Given the description of an element on the screen output the (x, y) to click on. 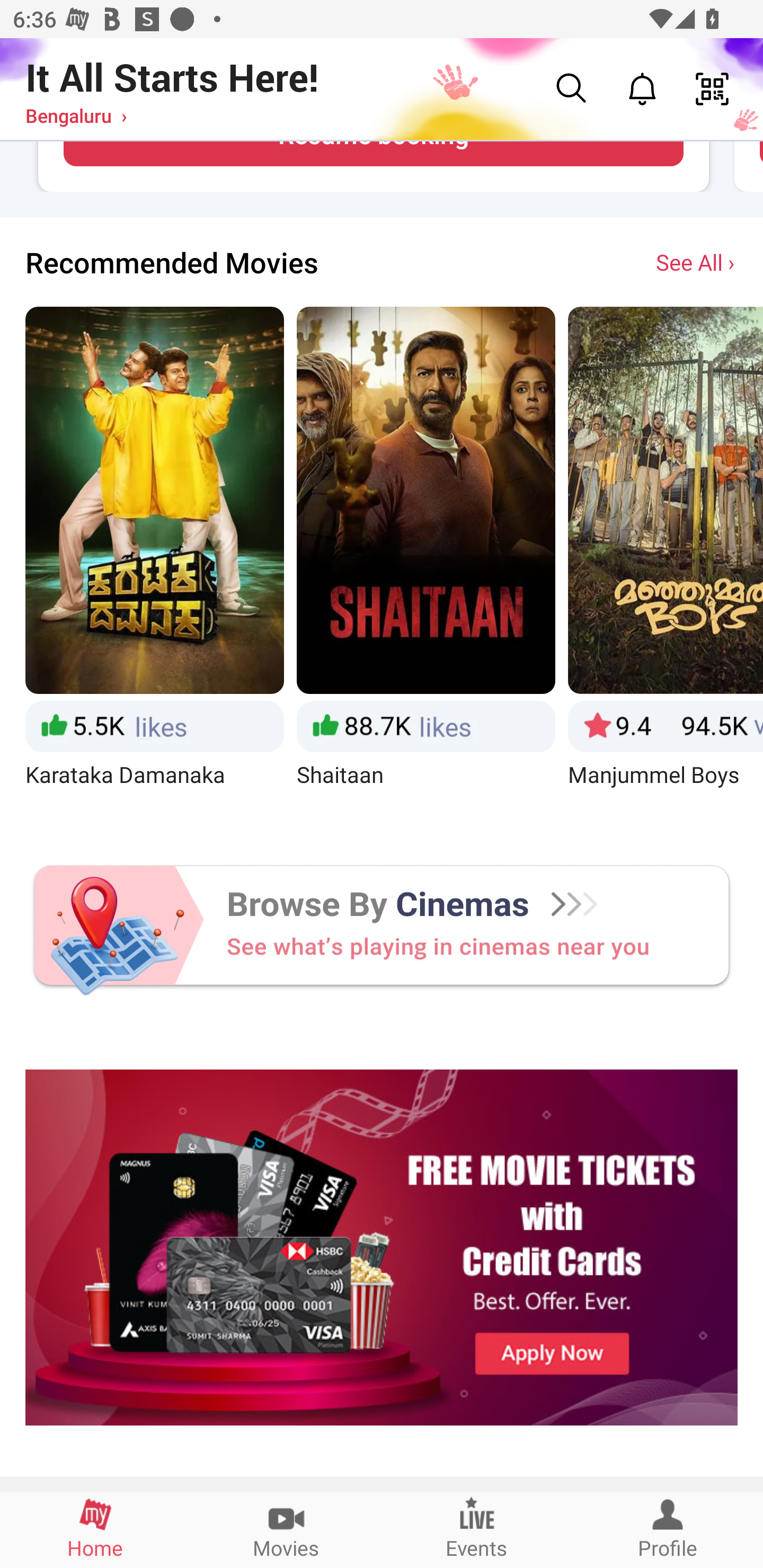
Bengaluru  › (76, 114)
See All › (696, 261)
Karataka Damanaka (154, 564)
Shaitaan (425, 564)
Manjummel Boys (665, 564)
Home (95, 1529)
Movies (285, 1529)
Events (476, 1529)
Profile (667, 1529)
